Given the description of an element on the screen output the (x, y) to click on. 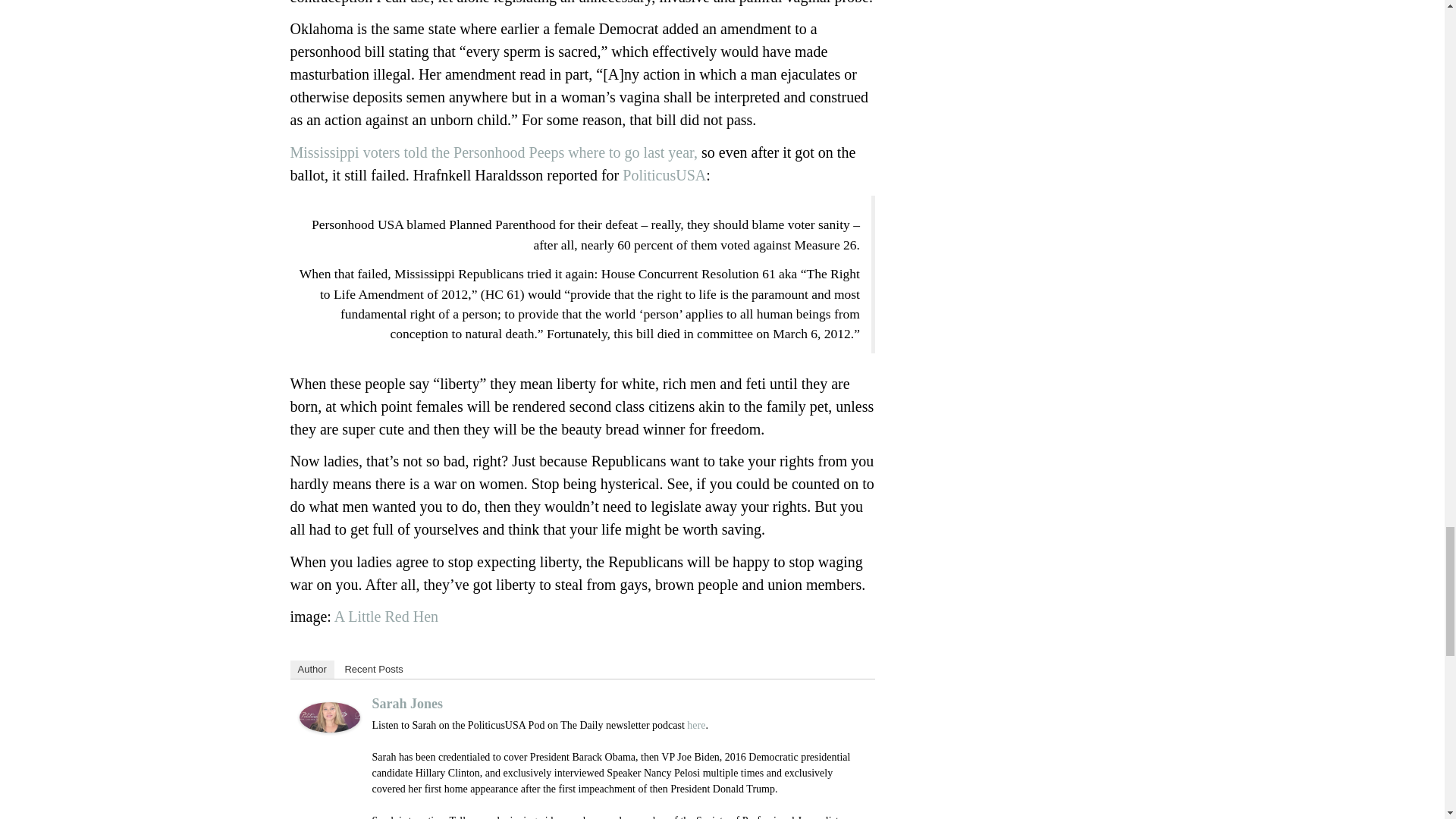
Recent Posts (373, 669)
A Little Red Hen (386, 616)
Author (311, 669)
Sarah Jones (328, 716)
Sarah Jones (406, 703)
here (695, 725)
PoliticusUSA (662, 175)
